Given the description of an element on the screen output the (x, y) to click on. 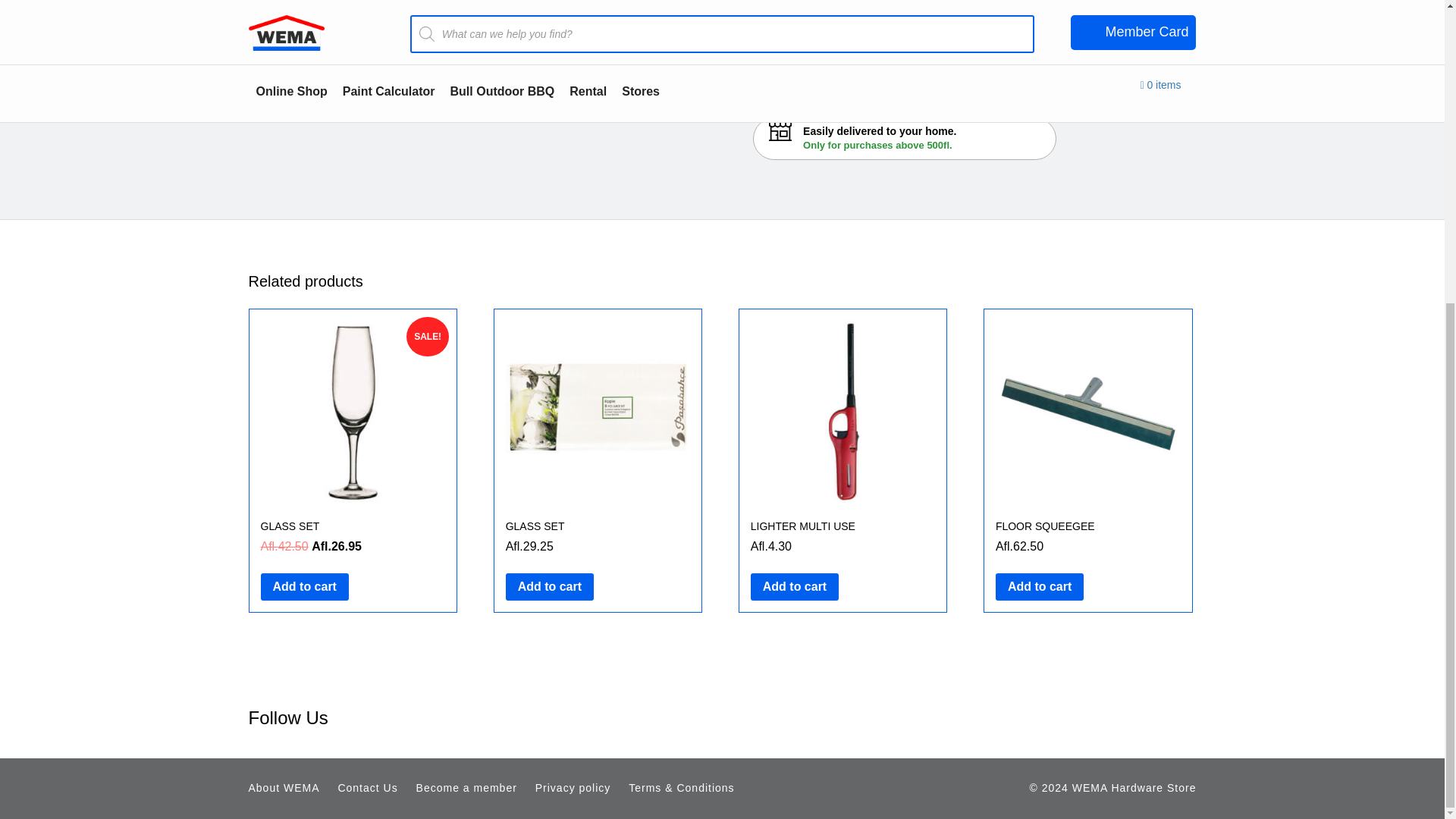
Add to cart (304, 586)
Add to cart (794, 586)
Become a member (466, 787)
Privacy policy (573, 787)
Add to cart (1039, 586)
About WEMA (284, 787)
Add to cart (549, 586)
Contact Us (367, 787)
